Given the description of an element on the screen output the (x, y) to click on. 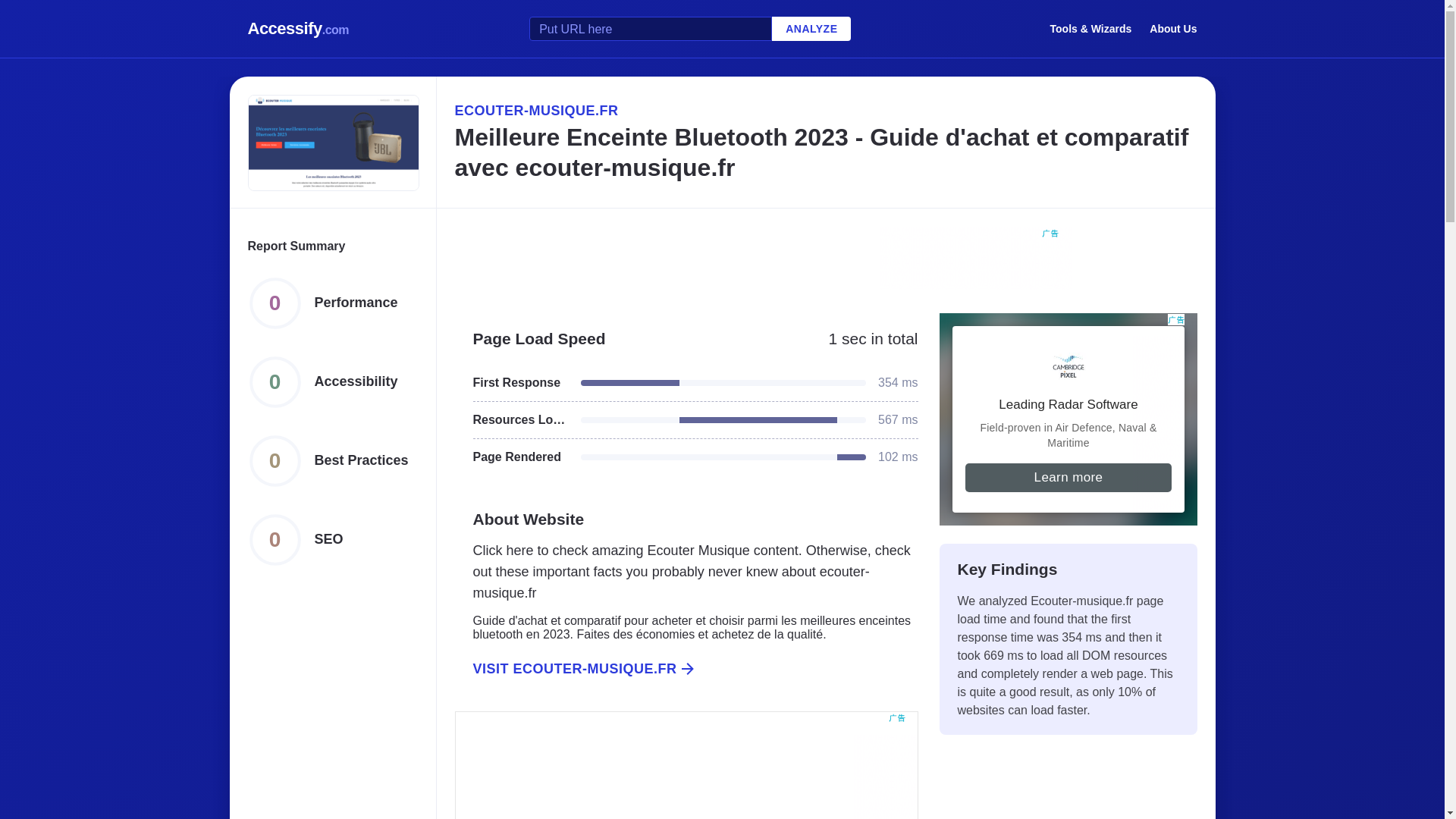
Advertisement (1067, 418)
Accessify.com (298, 28)
VISIT ECOUTER-MUSIQUE.FR (686, 669)
ECOUTER-MUSIQUE.FR (825, 110)
Advertisement (686, 765)
Advertisement (825, 260)
ANALYZE (810, 28)
About Us (1173, 28)
